Given the description of an element on the screen output the (x, y) to click on. 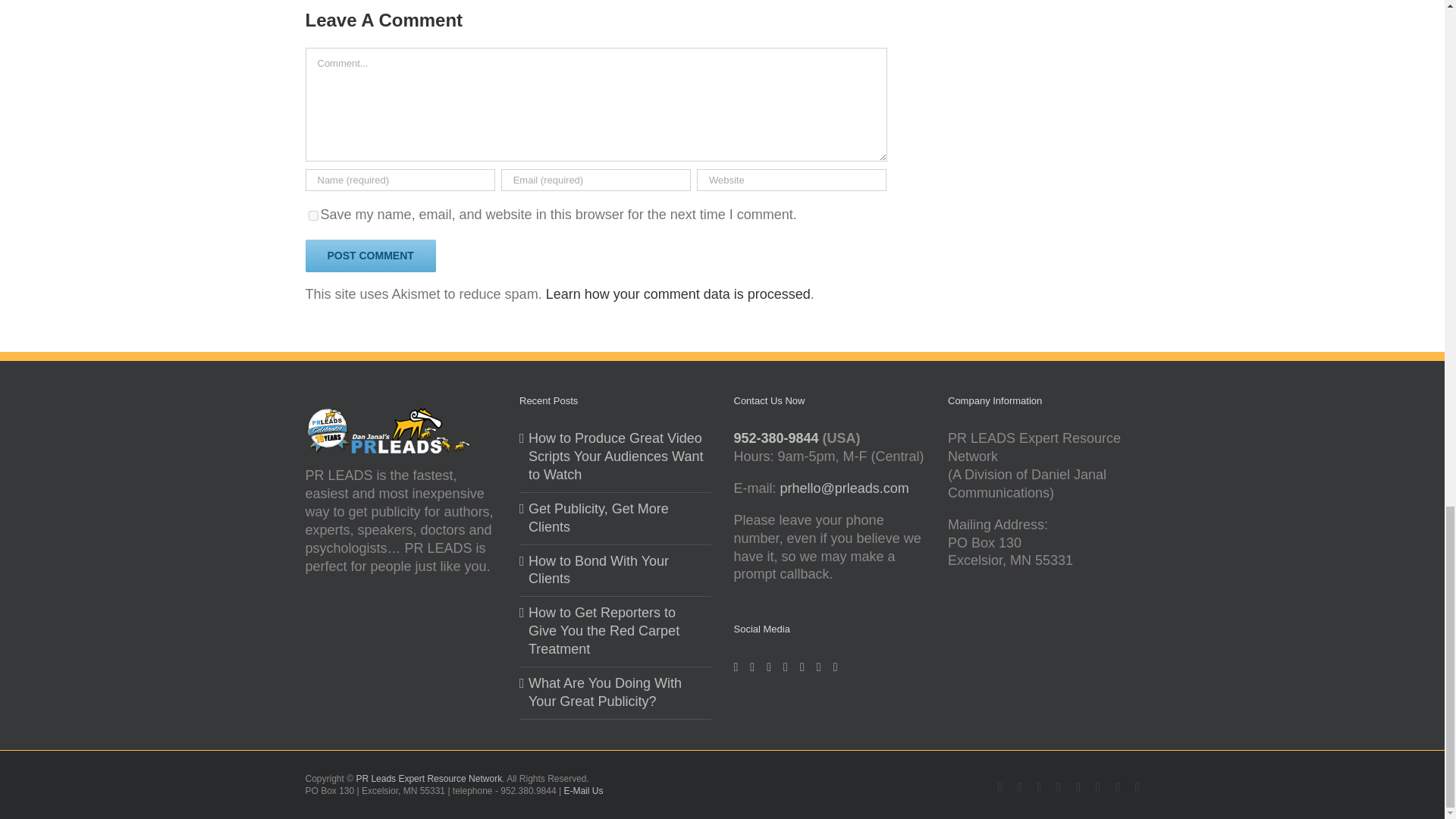
Learn how your comment data is processed (678, 294)
yes (312, 215)
Post Comment (369, 255)
Post Comment (369, 255)
